Given the description of an element on the screen output the (x, y) to click on. 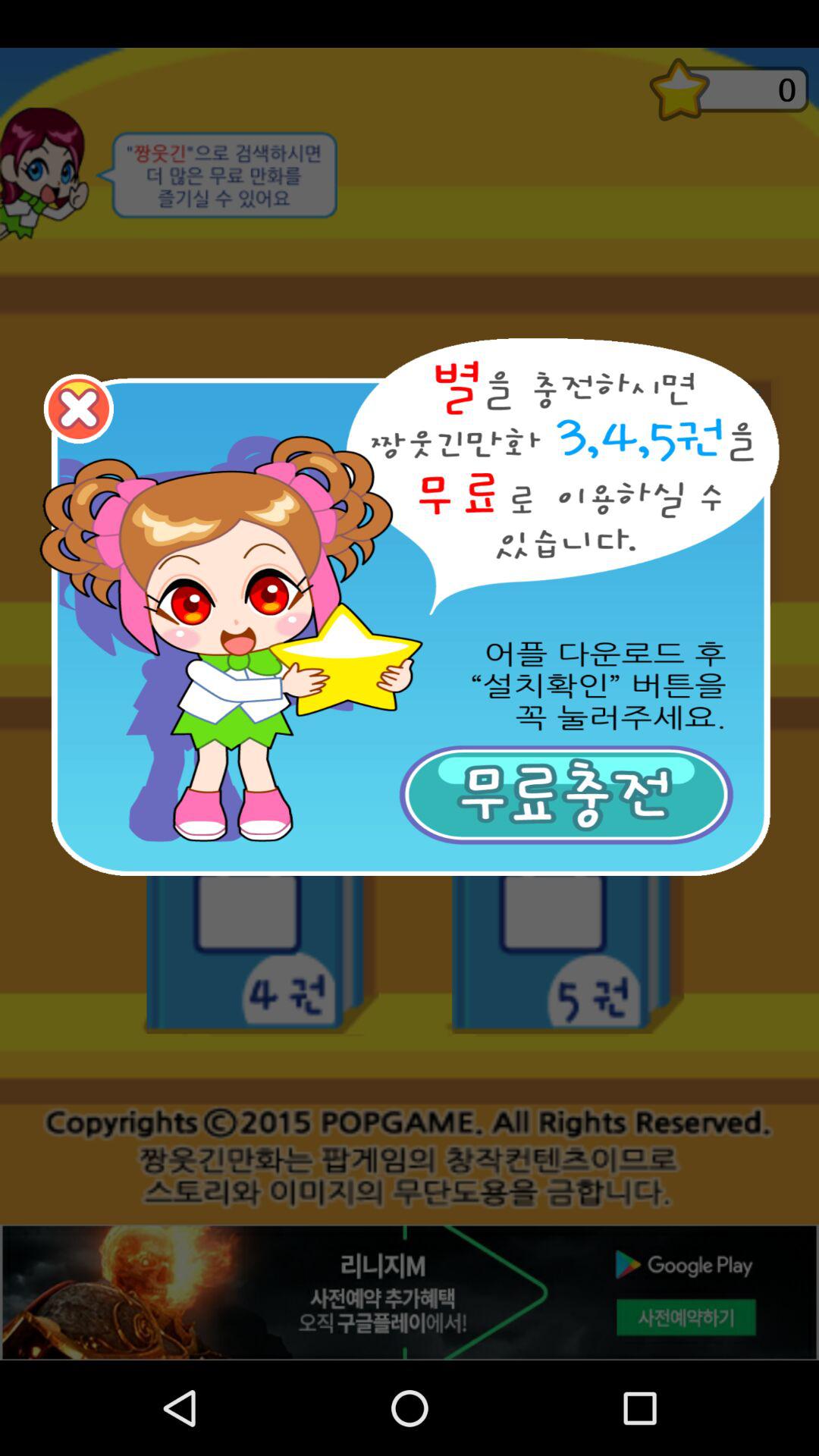
exit screen (78, 409)
